Given the description of an element on the screen output the (x, y) to click on. 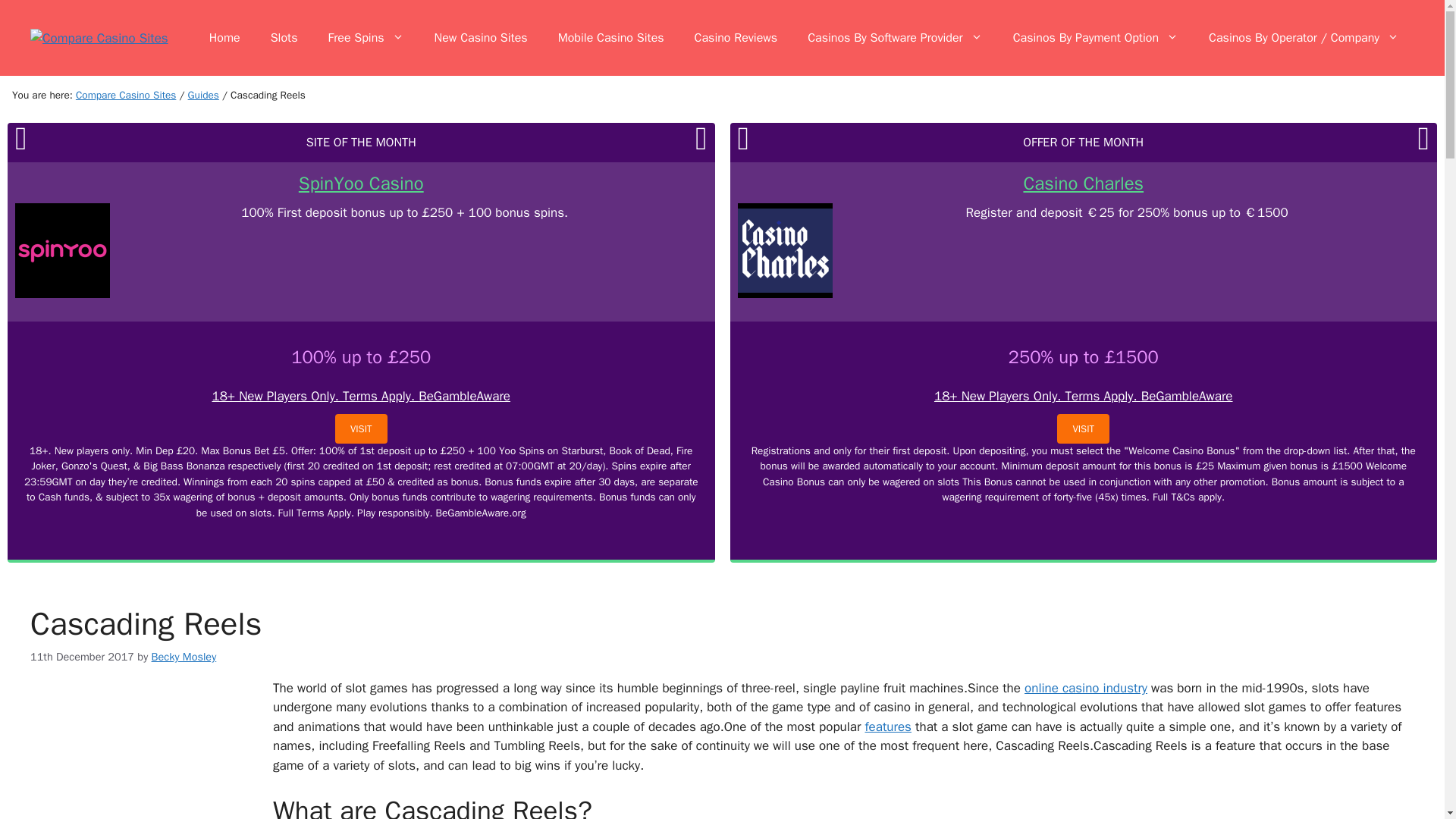
Casinos By Software Provider (894, 37)
New Casino Sites (481, 37)
Slots (284, 37)
Free Spins (366, 37)
View all posts by Becky Mosley (183, 656)
Casino Reviews (736, 37)
Item (203, 94)
Guides (203, 94)
Compare Casino Sites (125, 94)
Home (224, 37)
Casinos By Payment Option (1095, 37)
Mobile Casino Sites (611, 37)
